Given the description of an element on the screen output the (x, y) to click on. 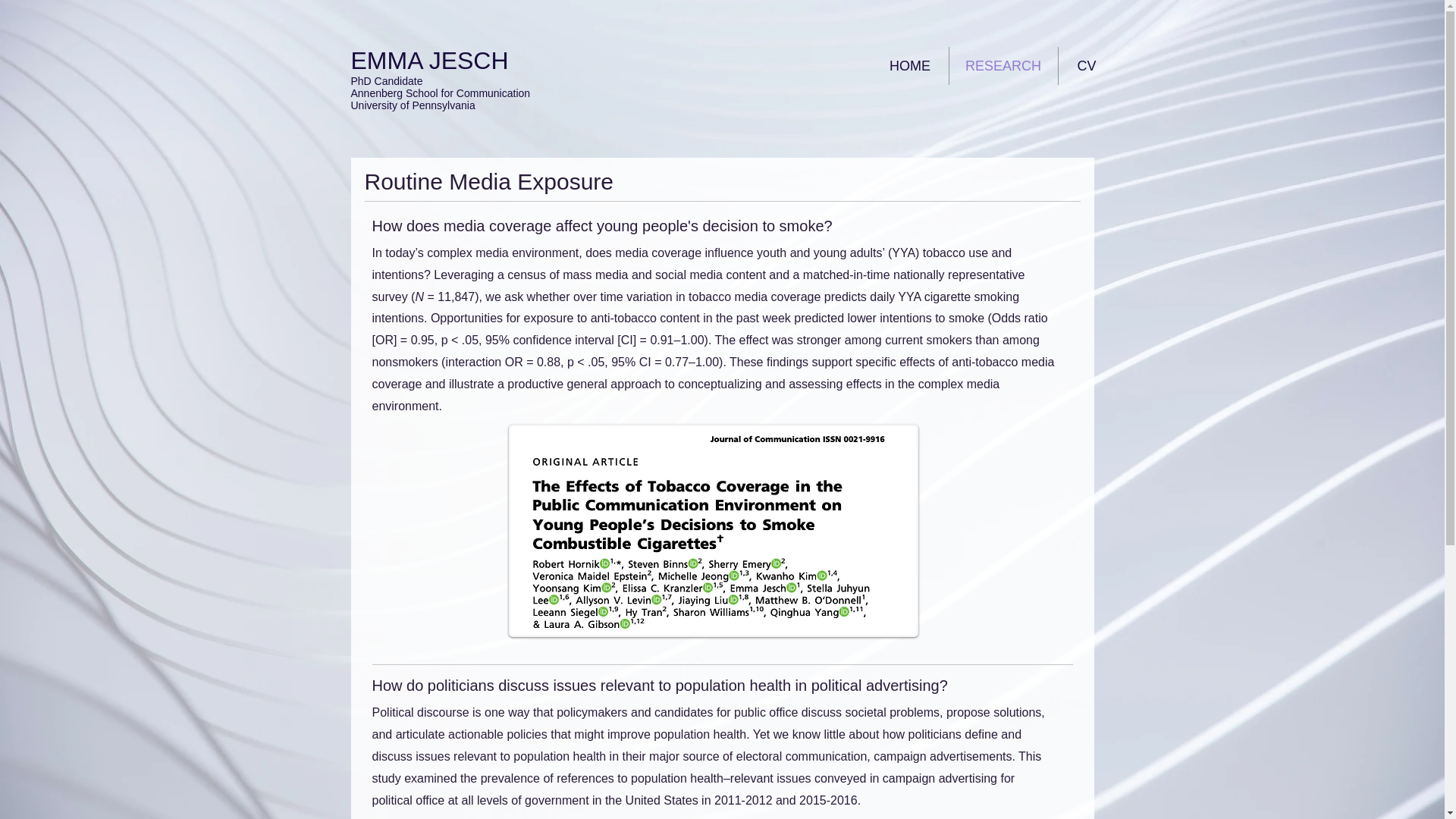
RESEARCH (1003, 65)
Screen Shot 2022-10-26 at 3.30.31 PM.png (712, 531)
CV (1086, 65)
HOME (910, 65)
